Given the description of an element on the screen output the (x, y) to click on. 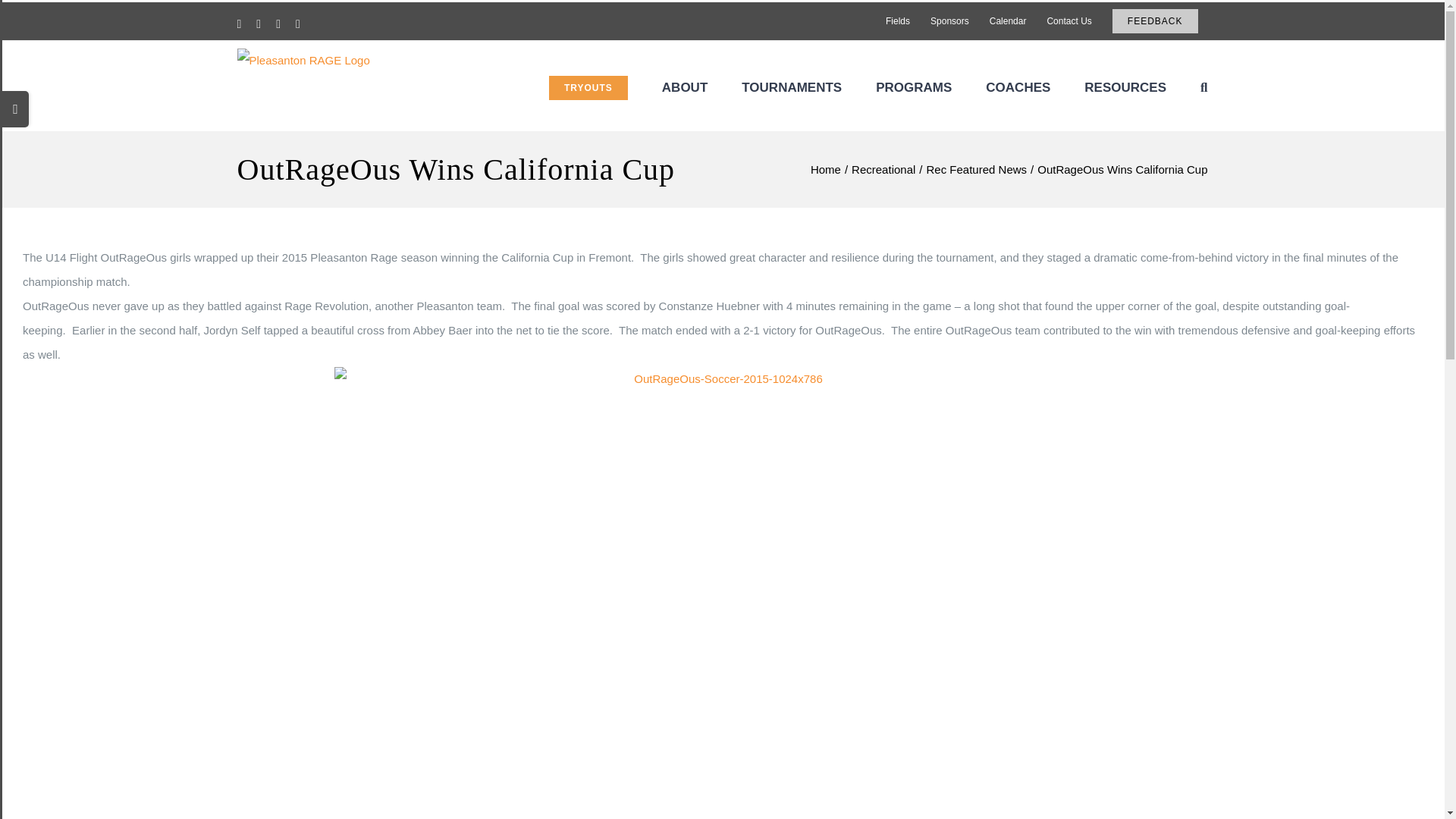
FEEDBACK (1155, 21)
Sponsors (949, 21)
RESOURCES (1125, 85)
TOURNAMENTS (791, 85)
Fields (898, 21)
Calendar (1007, 21)
Contact Us (1068, 21)
